Given the description of an element on the screen output the (x, y) to click on. 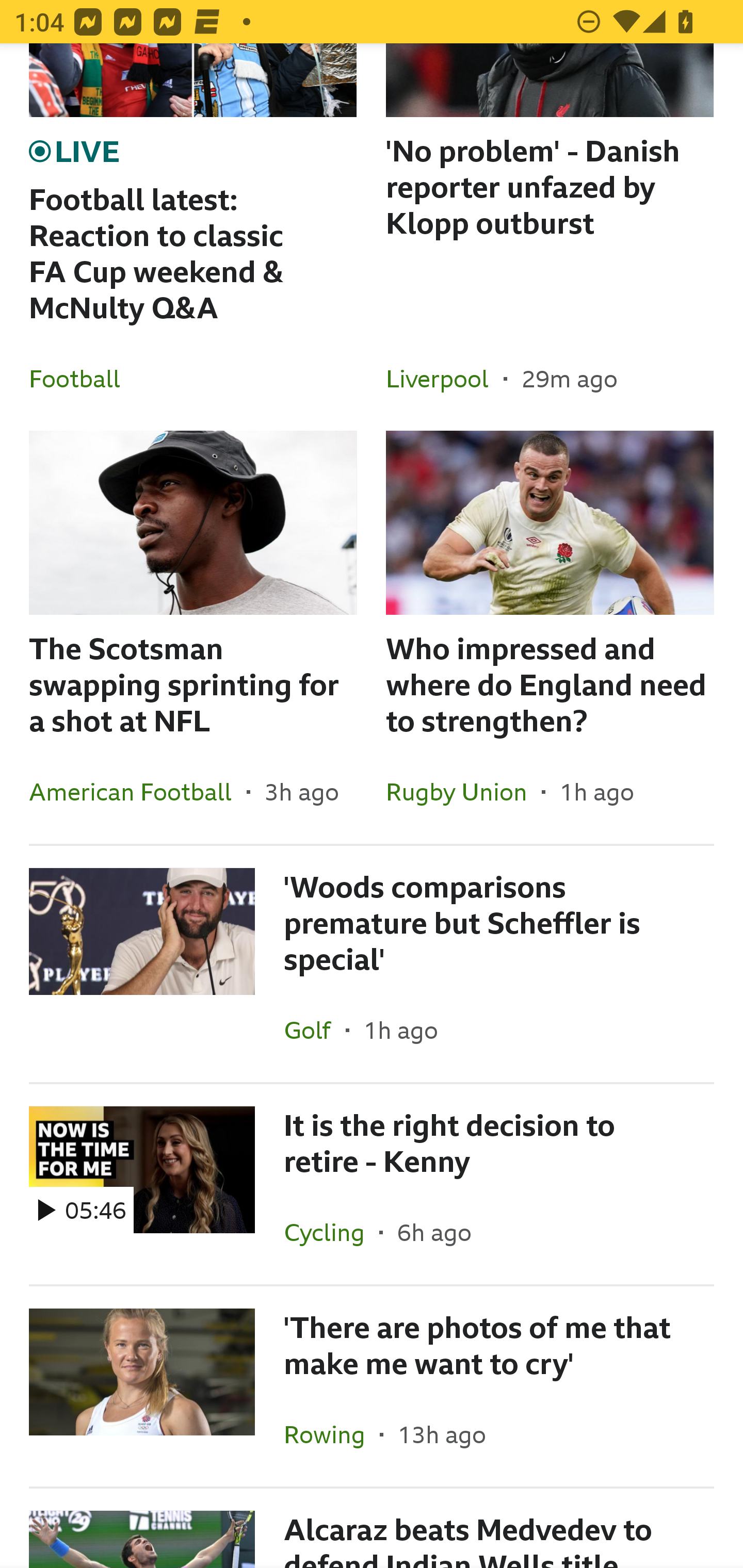
Football In the section Football (81, 378)
Liverpool In the section Liverpool (444, 378)
American Football In the section American Football (137, 791)
Rugby Union In the section Rugby Union (463, 791)
Golf In the section Golf (314, 1029)
Cycling In the section Cycling (330, 1232)
Rowing In the section Rowing (331, 1434)
